Given the description of an element on the screen output the (x, y) to click on. 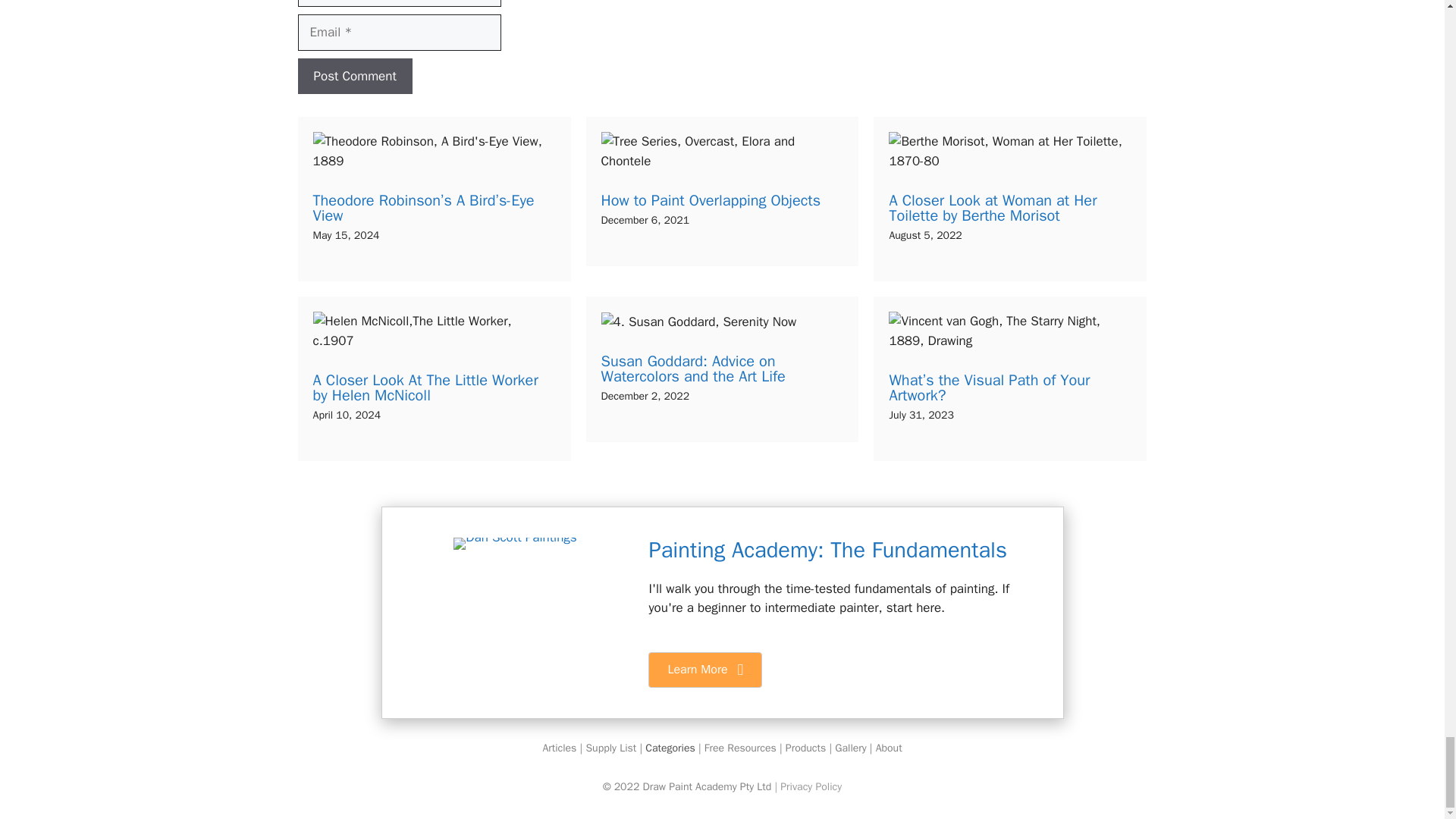
Painting Academy: The Fundamentals (827, 550)
Dan Scott Paintings (514, 543)
Post Comment (354, 76)
